Given the description of an element on the screen output the (x, y) to click on. 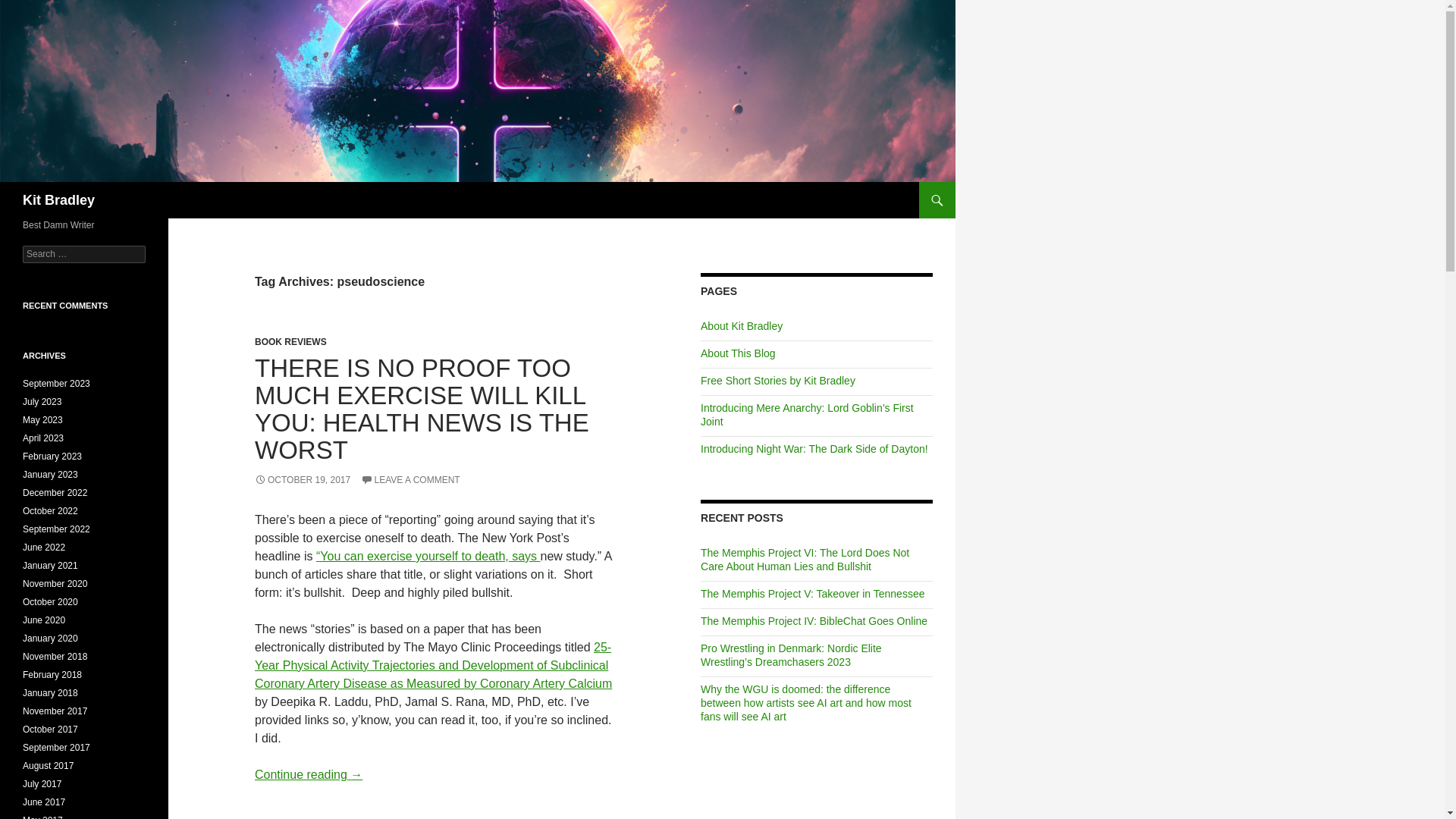
Kit Bradley (58, 199)
BOOK REVIEWS (290, 341)
LEAVE A COMMENT (410, 480)
OCTOBER 19, 2017 (302, 480)
